Given the description of an element on the screen output the (x, y) to click on. 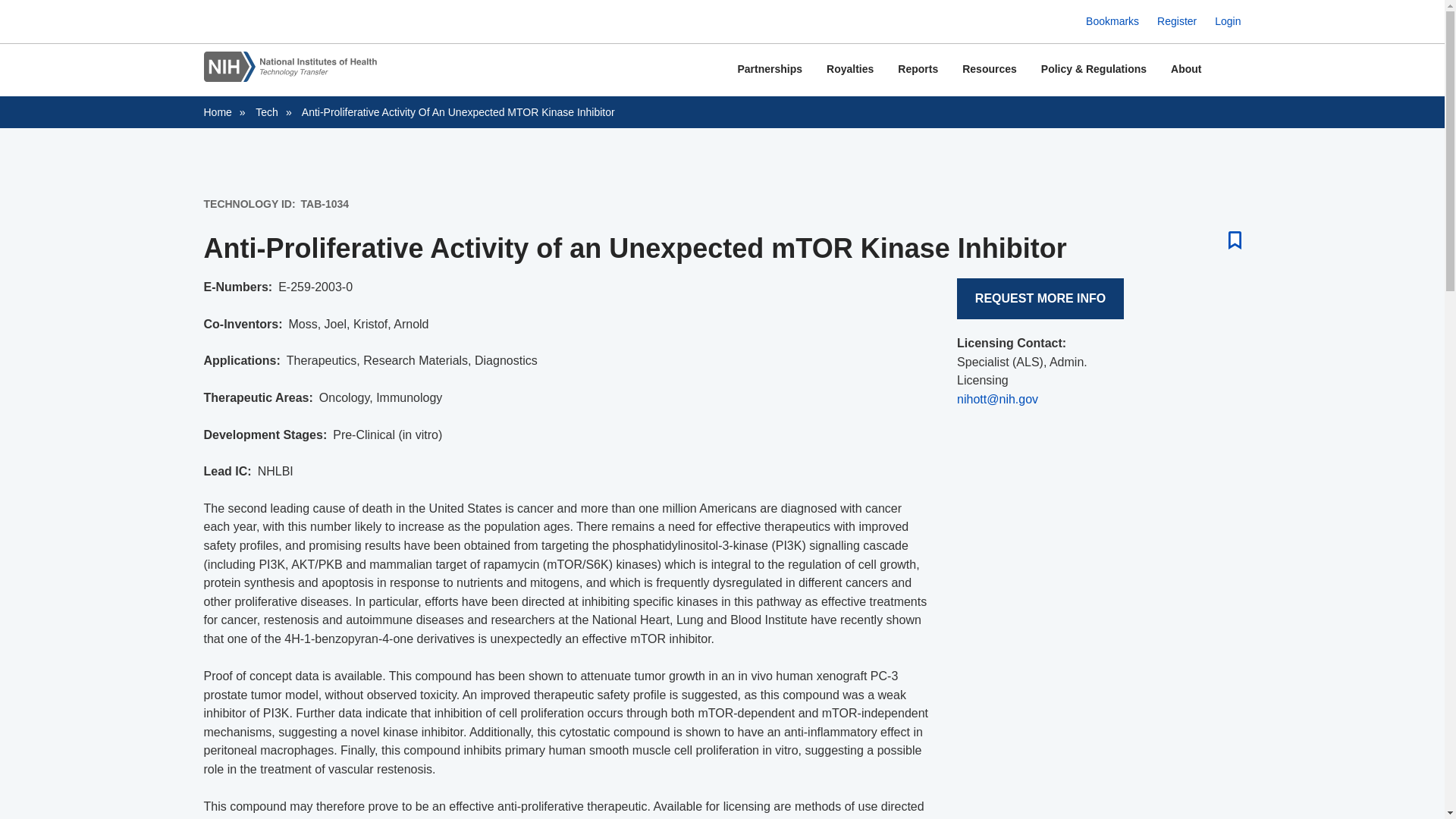
Royalties (849, 69)
Login (1227, 21)
Partnerships (769, 69)
Reports (917, 69)
Skip to main content (721, 1)
Register (1176, 21)
Bookmarks (1112, 21)
